Given the description of an element on the screen output the (x, y) to click on. 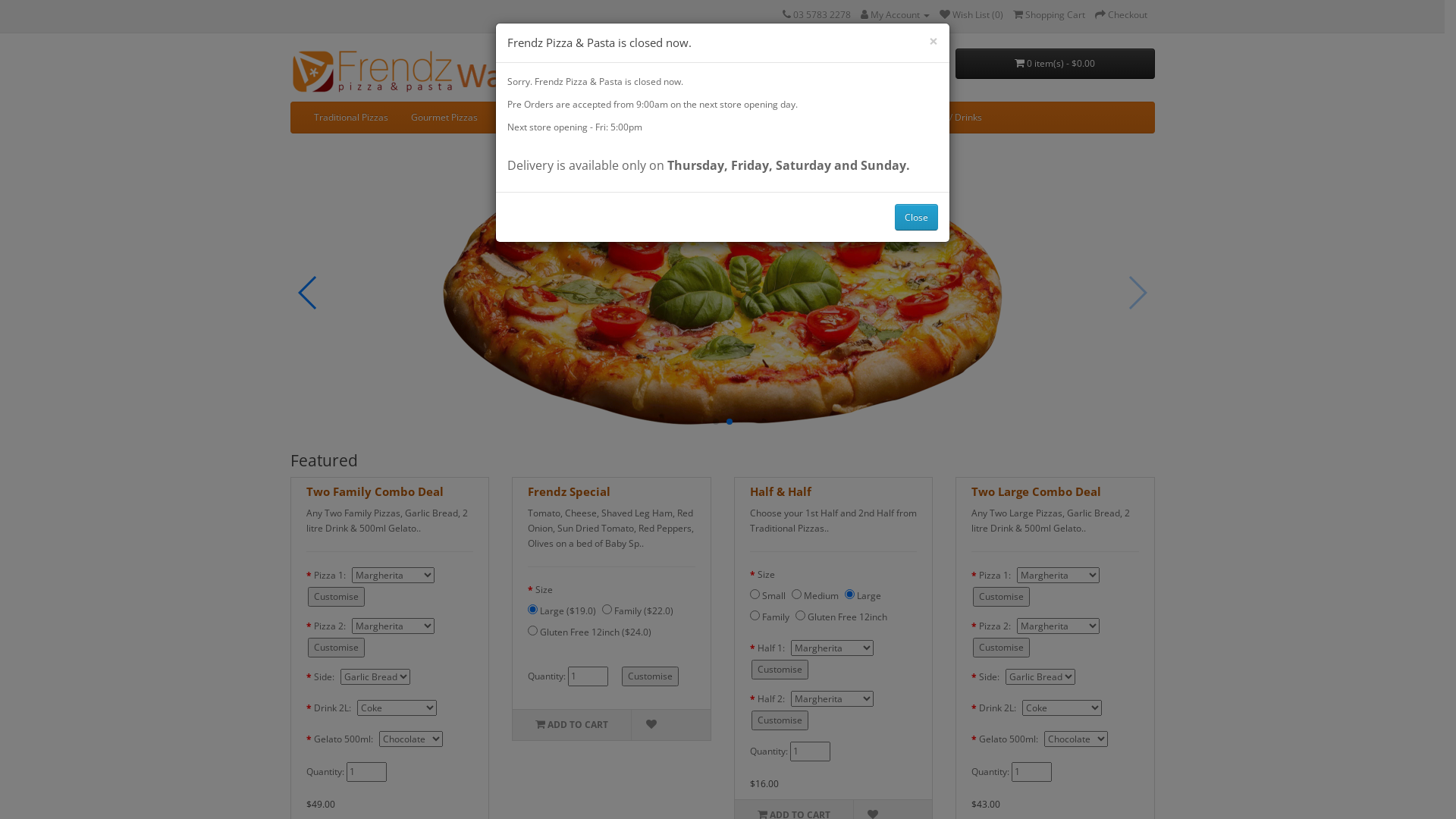
Desserts / Drinks Element type: text (945, 117)
Half & Half Element type: text (739, 117)
Customise Element type: text (1000, 596)
Frendz Special Element type: text (568, 490)
My Account Element type: text (893, 14)
Customise Element type: text (649, 676)
Pasta Element type: text (587, 117)
0 item(s) - $0.00 Element type: text (1054, 63)
Sides Element type: text (874, 117)
Pizza Lovers Element type: text (525, 117)
Checkout Element type: text (1121, 14)
Customise Element type: text (778, 669)
Frendz Deals Element type: text (812, 117)
Gourmet Pizzas Element type: text (443, 117)
Two Large Combo Deal Element type: text (1036, 490)
Frendz Pizza & Pasta Element type: hover (420, 71)
Customise Element type: text (335, 596)
Main Element type: text (631, 117)
Shopping Cart Element type: text (1049, 14)
Salads Element type: text (678, 117)
Half & Half Element type: text (779, 490)
Close Element type: text (916, 216)
Customise Element type: text (778, 720)
Traditional Pizzas Element type: text (349, 117)
Two Family Combo Deal Element type: text (374, 490)
ADD TO CART Element type: text (571, 724)
Customise Element type: text (335, 647)
Customise Element type: text (1000, 647)
Wish List (0) Element type: text (970, 14)
